Given the description of an element on the screen output the (x, y) to click on. 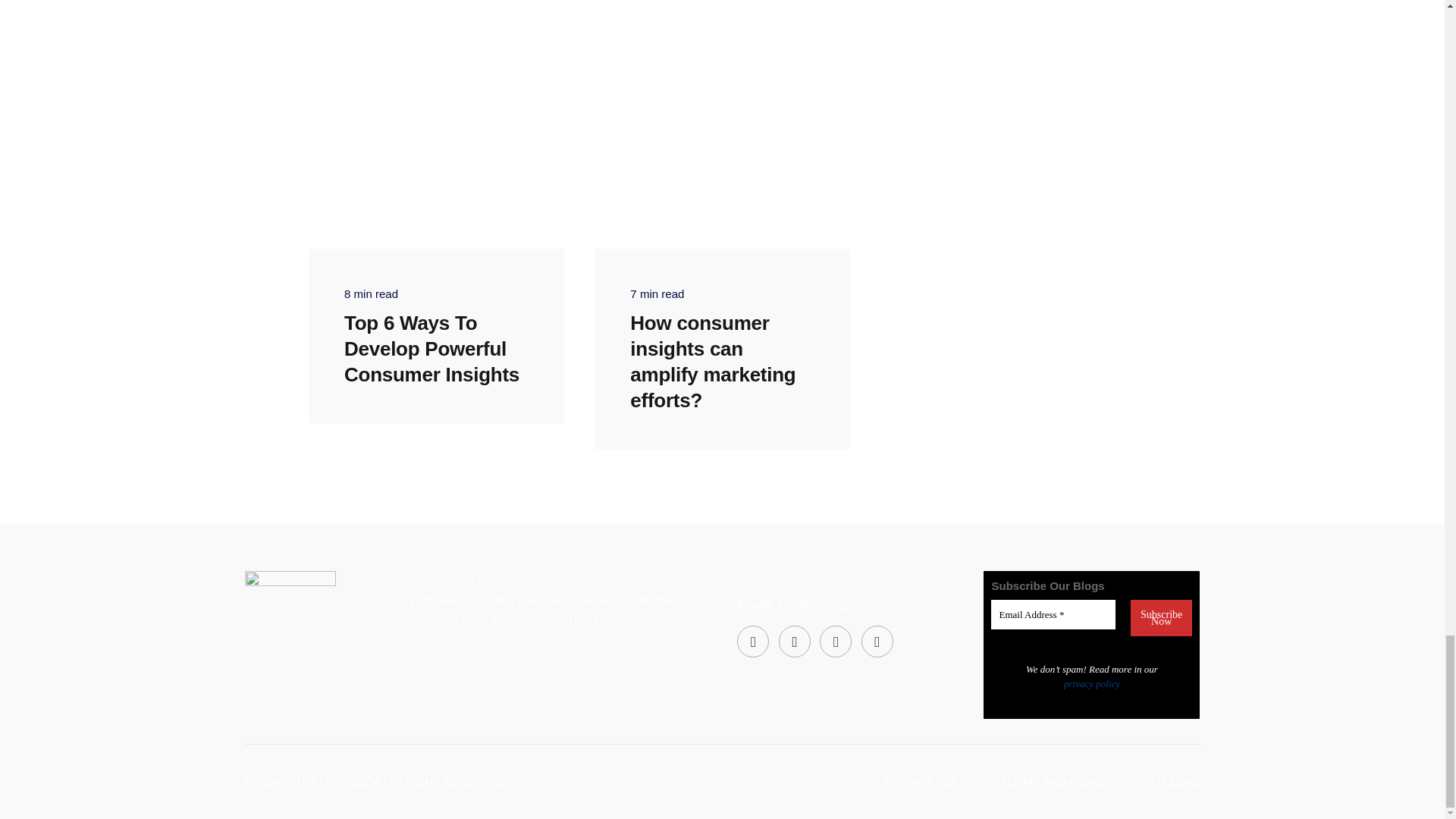
Top 6 Ways To Develop Powerful Consumer Insights (431, 348)
Email Address (1053, 614)
Subscribe Now (1161, 617)
How consumer insights can amplify marketing efforts? (712, 361)
